Given the description of an element on the screen output the (x, y) to click on. 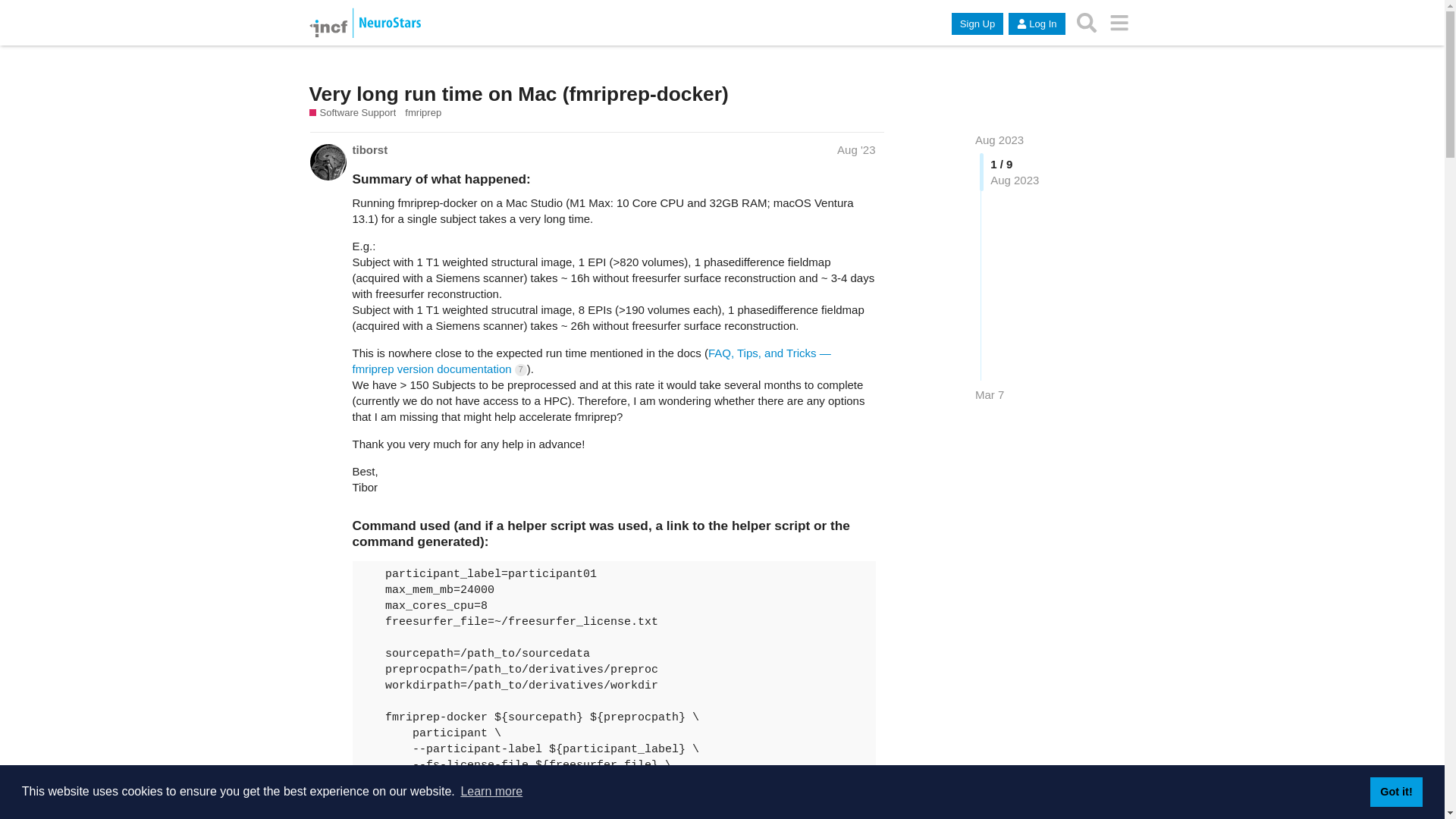
Aug 2023 (999, 139)
Software Support (352, 112)
Got it! (1396, 791)
Questions and discussions specific to software. (358, 112)
menu (1119, 22)
Search (1086, 22)
7 clicks (521, 369)
Sign Up (977, 24)
Mar 7 (989, 394)
Mar 7, 2024 11:04 pm (989, 394)
Learn more (491, 791)
fmriprep (422, 112)
Post date (856, 149)
Aug '23 (856, 149)
Log In (1036, 24)
